Given the description of an element on the screen output the (x, y) to click on. 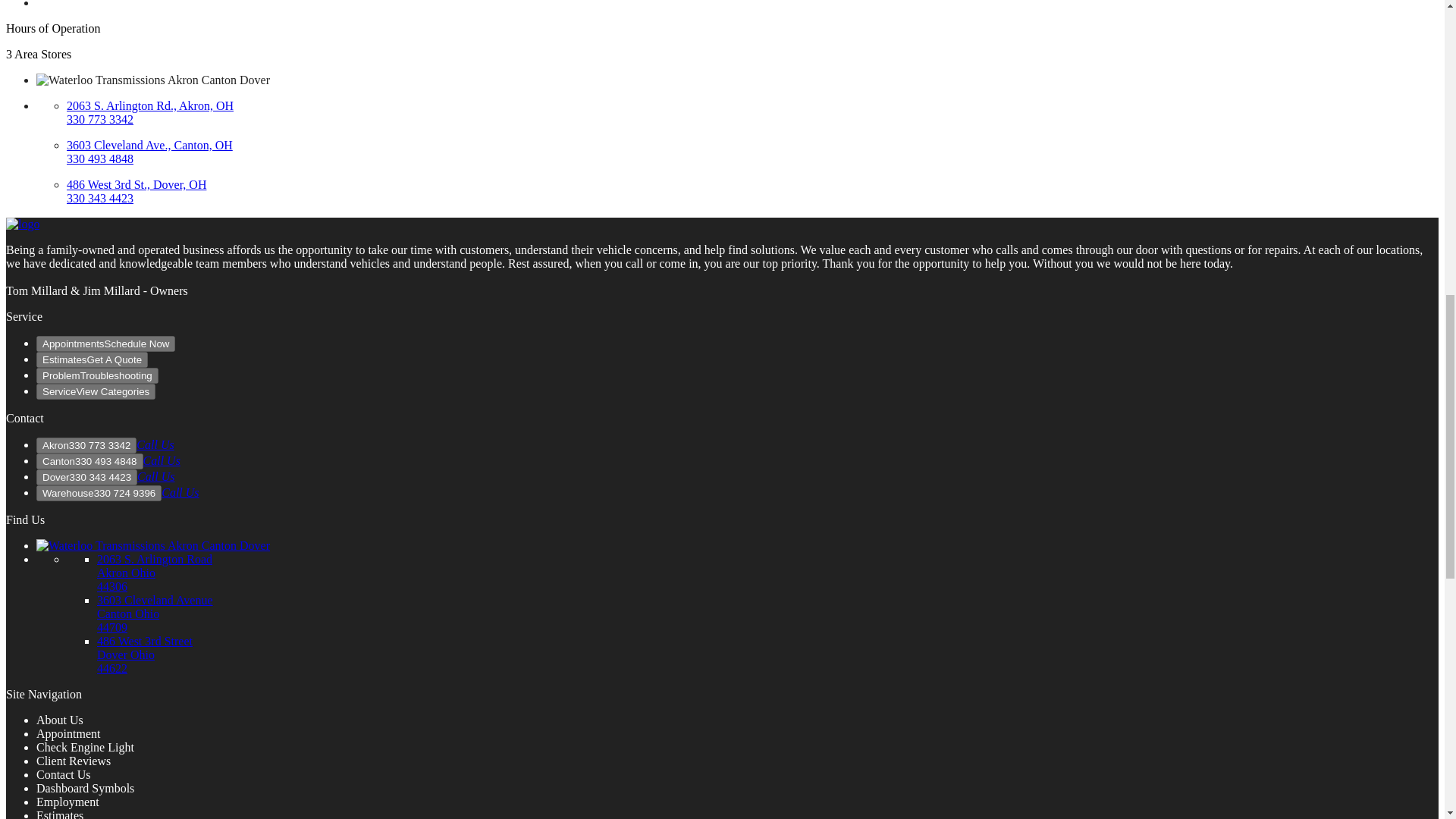
Call Akron Store (99, 119)
Dover Transmission Shop (136, 184)
Call Dover Store (99, 197)
Canton Transmission Shop (149, 144)
Dover Transmission Shop (144, 654)
Call Us Now (179, 492)
Canton Transmission Shop (154, 613)
Call Us Now (155, 476)
Akron Transmission Shop (149, 105)
Akron Transmission Shop (154, 572)
Call Us Now (154, 444)
Find Waterloo Transmission (152, 545)
Call Canton Store (99, 158)
Call Us Now (161, 460)
